Given the description of an element on the screen output the (x, y) to click on. 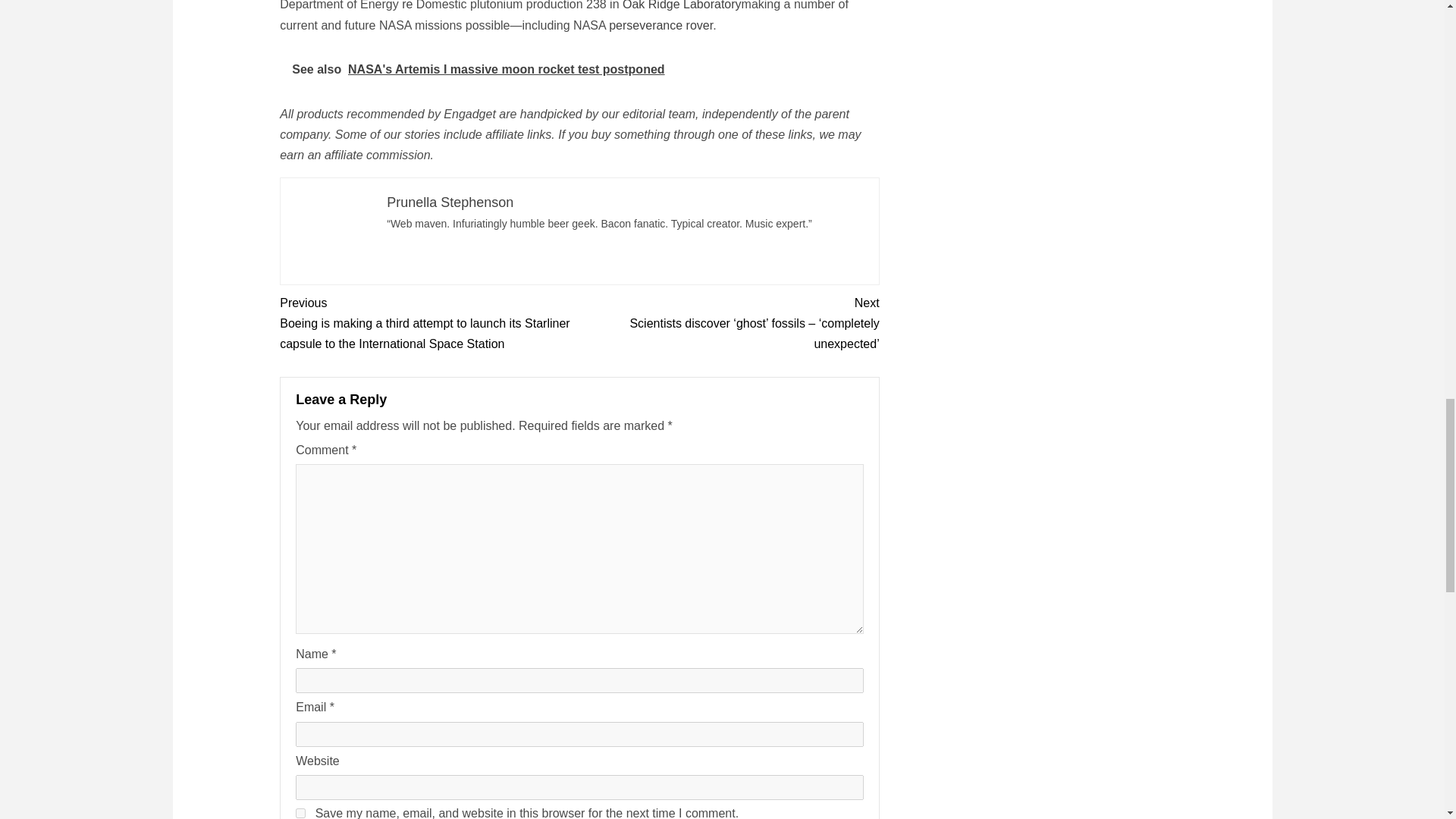
yes (300, 813)
re (406, 5)
Oak Ridge Laboratory (682, 5)
Prunella Stephenson (450, 201)
perseverance rover (660, 24)
